Given the description of an element on the screen output the (x, y) to click on. 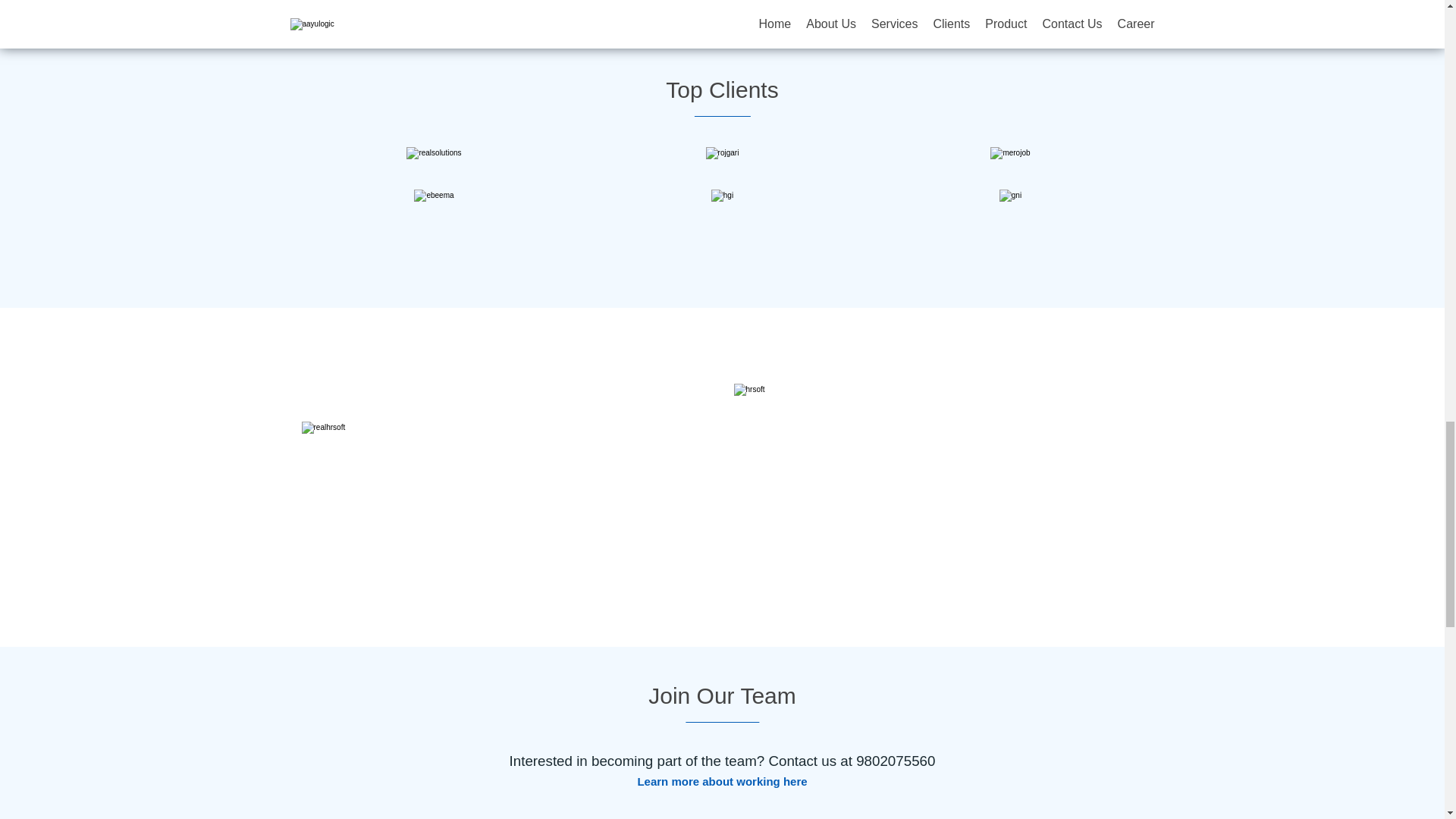
Learn more about working here (721, 780)
9802075560 (895, 760)
Visit Now (340, 533)
